Given the description of an element on the screen output the (x, y) to click on. 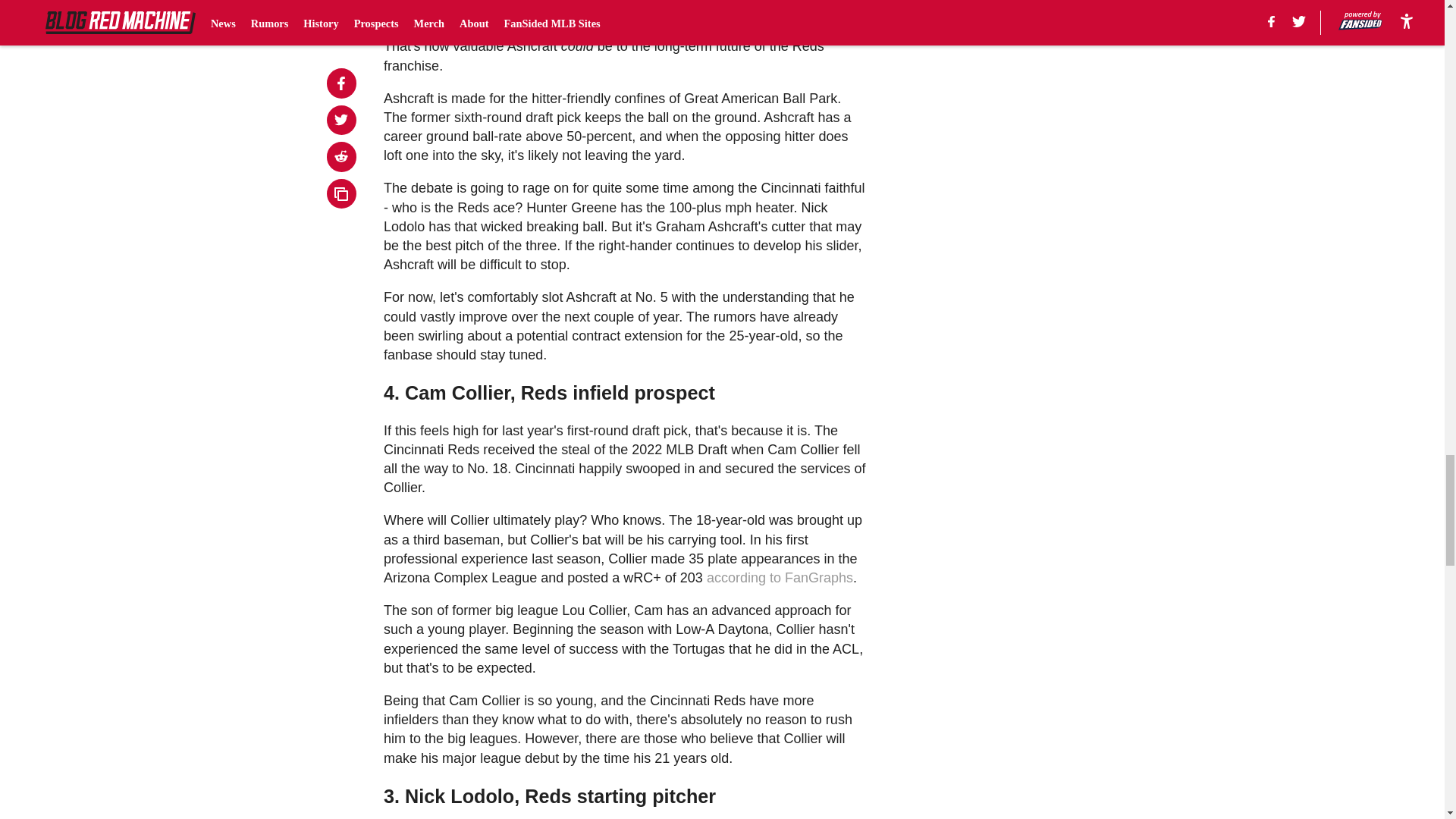
according to FanGraphs (779, 577)
